Given the description of an element on the screen output the (x, y) to click on. 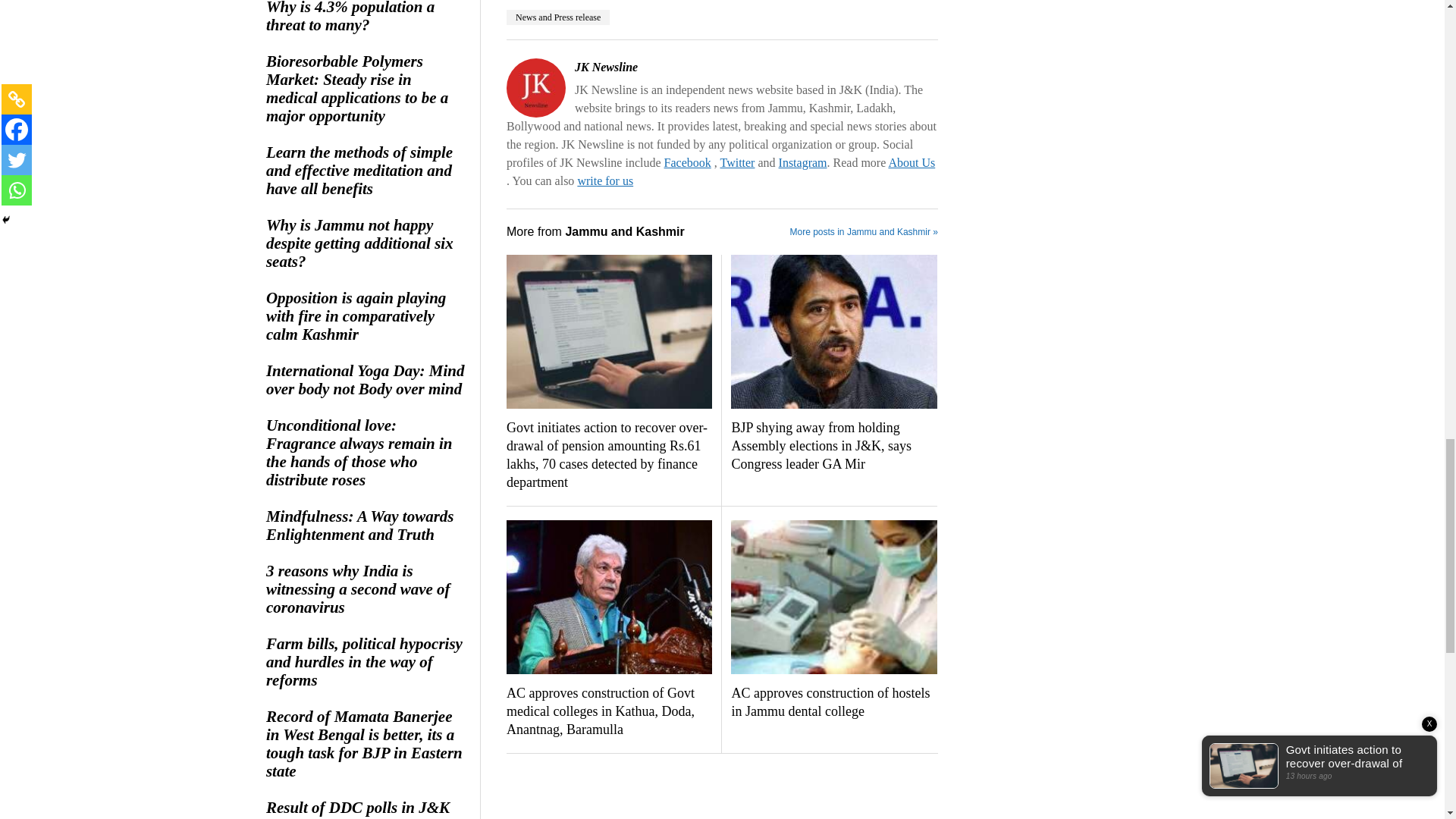
View all posts tagged News and Press release (558, 17)
